Given the description of an element on the screen output the (x, y) to click on. 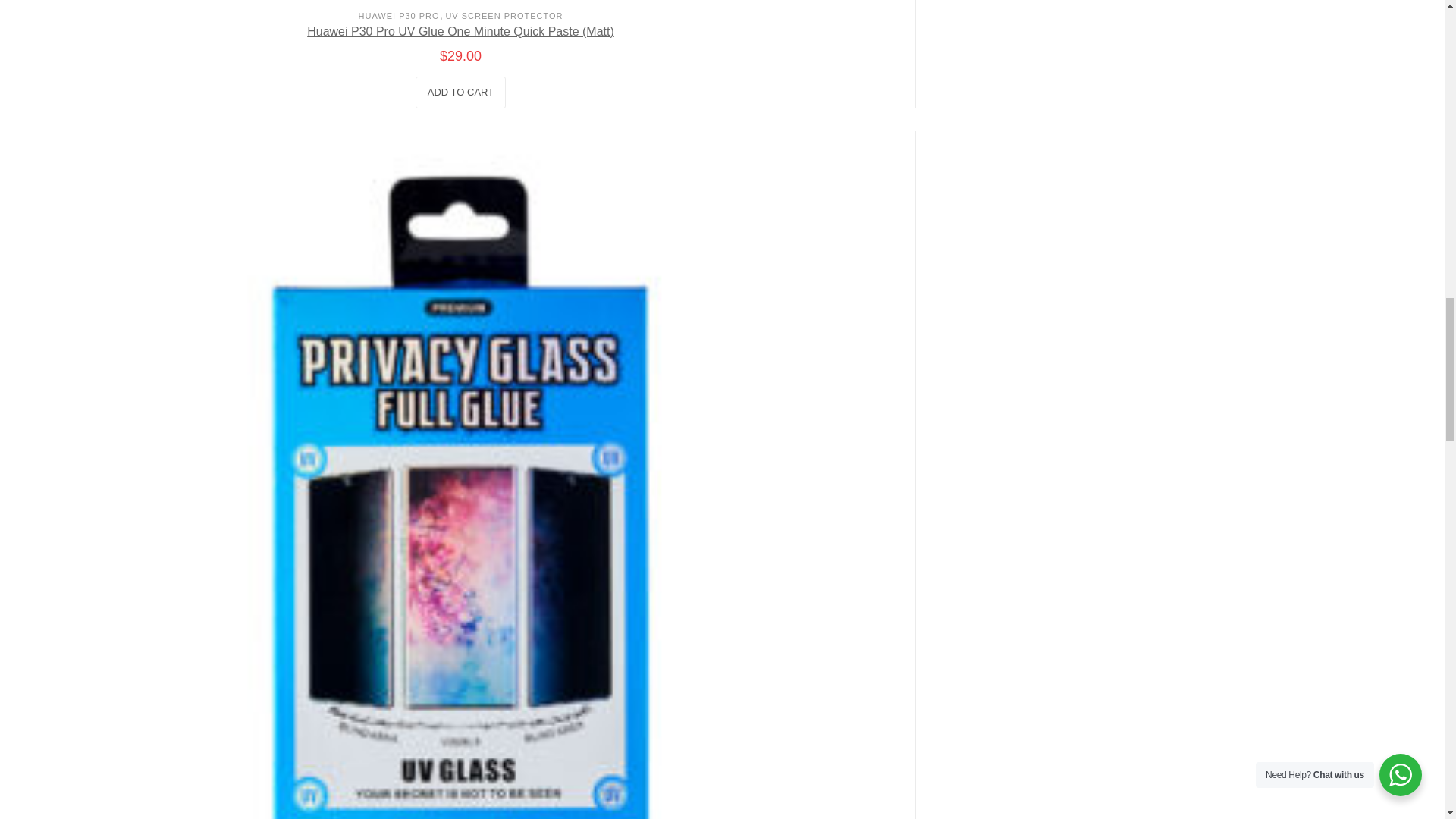
HUAWEI P30 PRO (398, 15)
ADD TO CART (459, 92)
UV SCREEN PROTECTOR (503, 15)
